Given the description of an element on the screen output the (x, y) to click on. 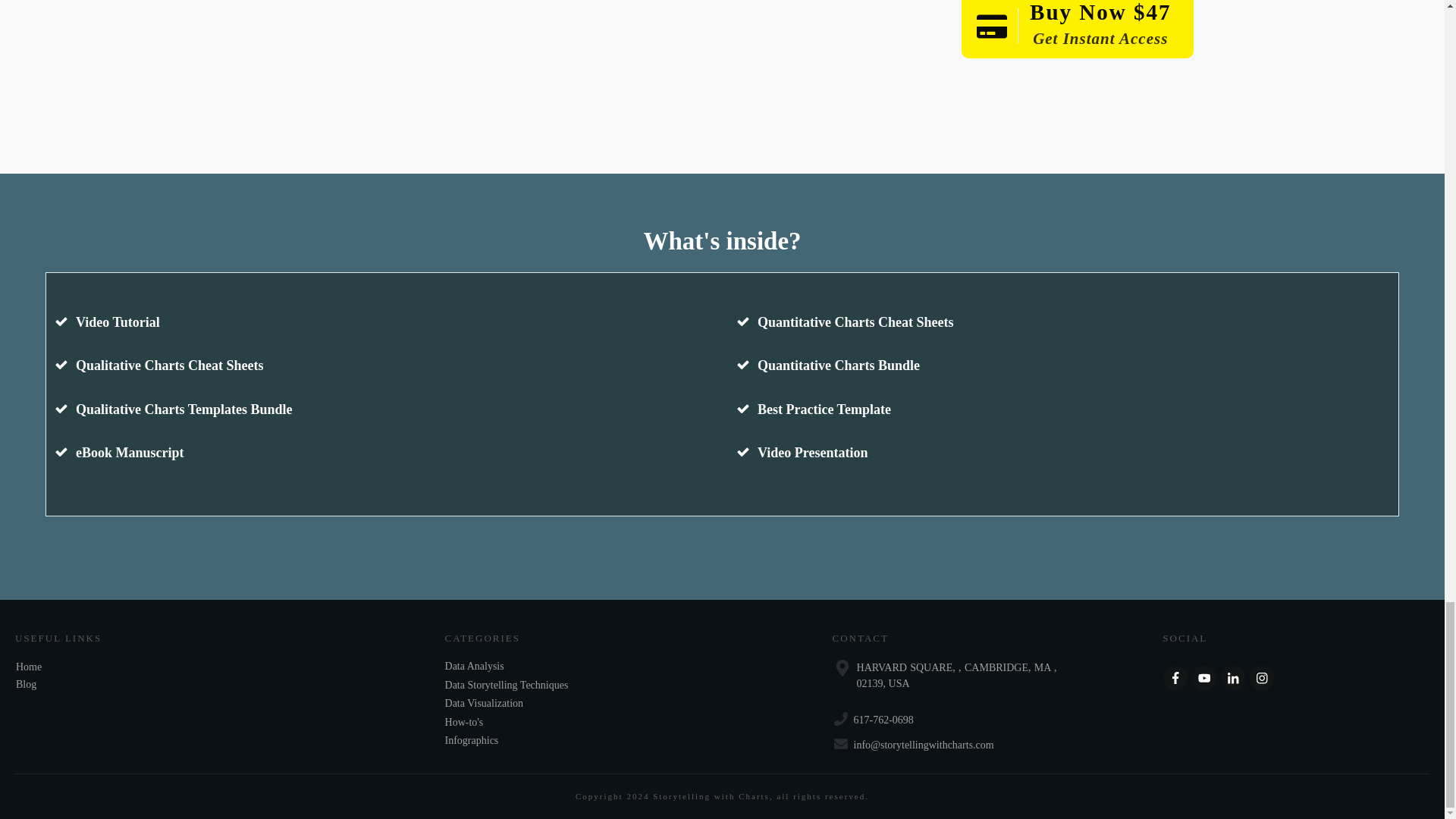
Data Analysis (474, 666)
Infographics (472, 740)
Data Visualization (483, 703)
Data Storytelling Techniques (507, 685)
Blog (26, 684)
mockup borislav (508, 79)
How-to's (464, 722)
Home (29, 666)
